Given the description of an element on the screen output the (x, y) to click on. 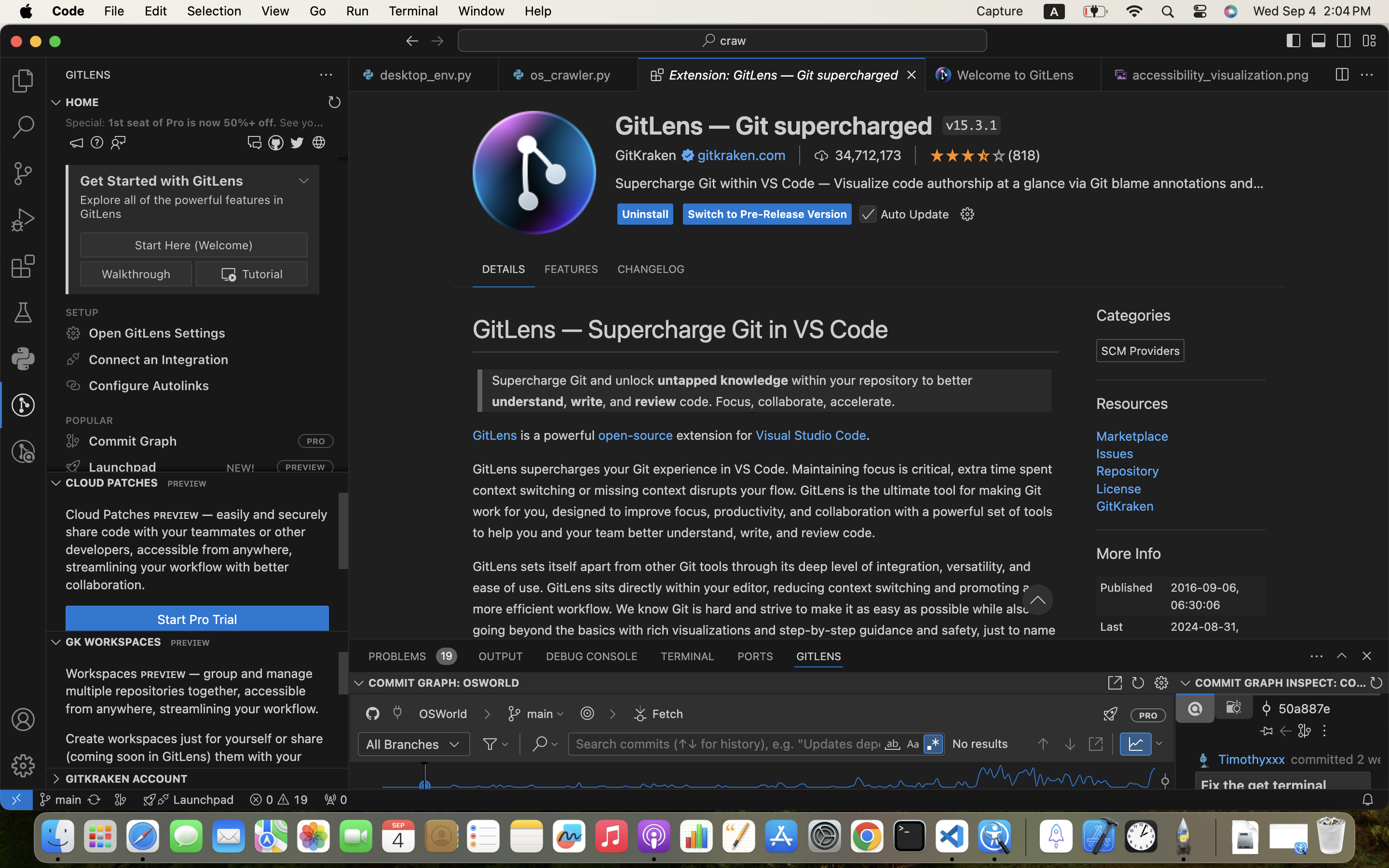
for Element type: AXStaticText (671, 281)
0  Element type: AXRadioButton (23, 173)
Tutorial Video Element type: AXStaticText (1103, 340)
Published Element type: AXStaticText (1126, 587)
Git CodeLens Element type: AXStaticText (602, 335)
